Given the description of an element on the screen output the (x, y) to click on. 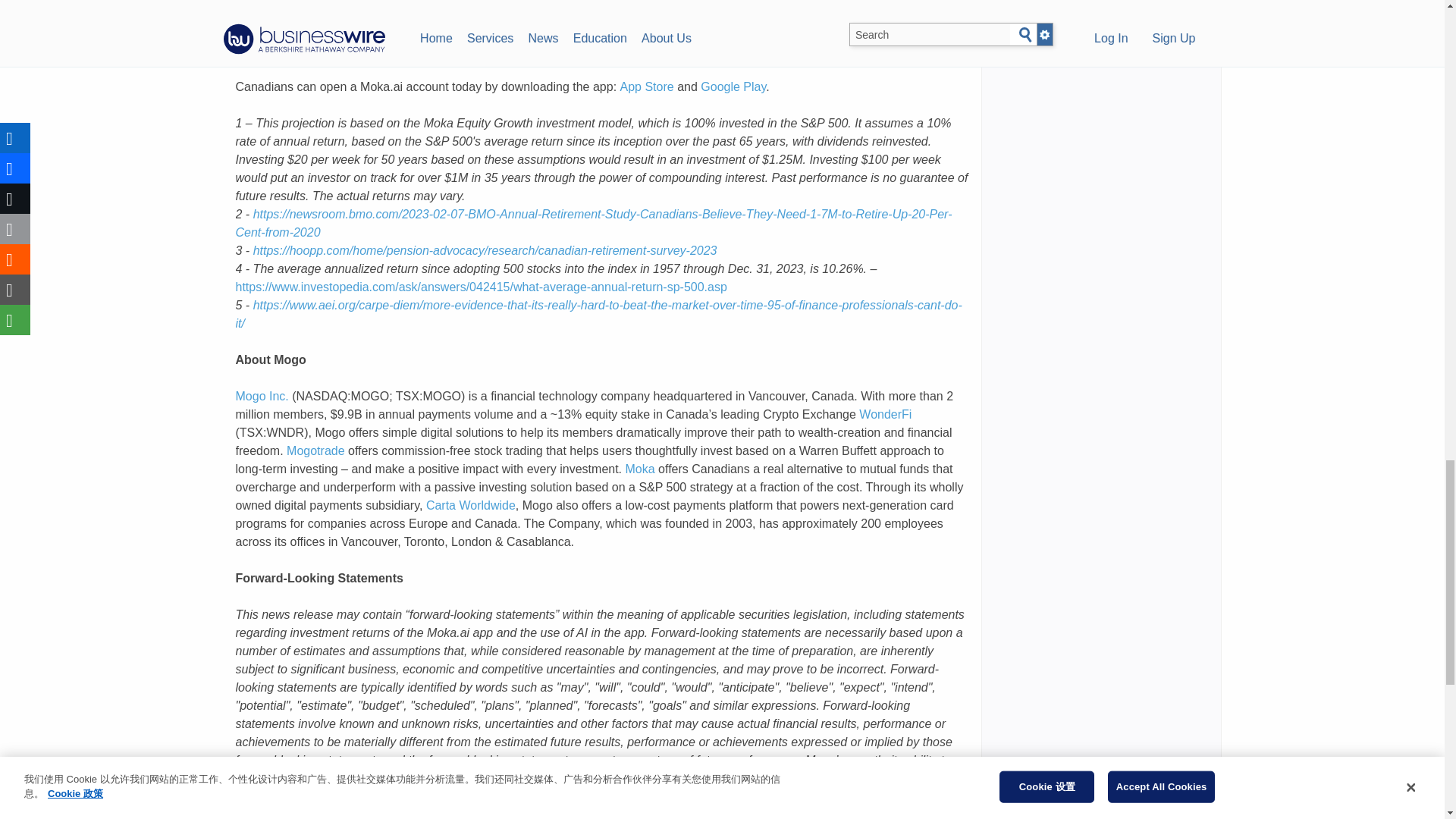
WonderFi (885, 413)
Moka (640, 468)
Google Play (732, 86)
Carta Worldwide (470, 504)
App Store (647, 86)
www.sedarplus.com (720, 813)
www.sec.gov (837, 813)
Mogo Inc. (261, 395)
Mogotrade (315, 450)
